Given the description of an element on the screen output the (x, y) to click on. 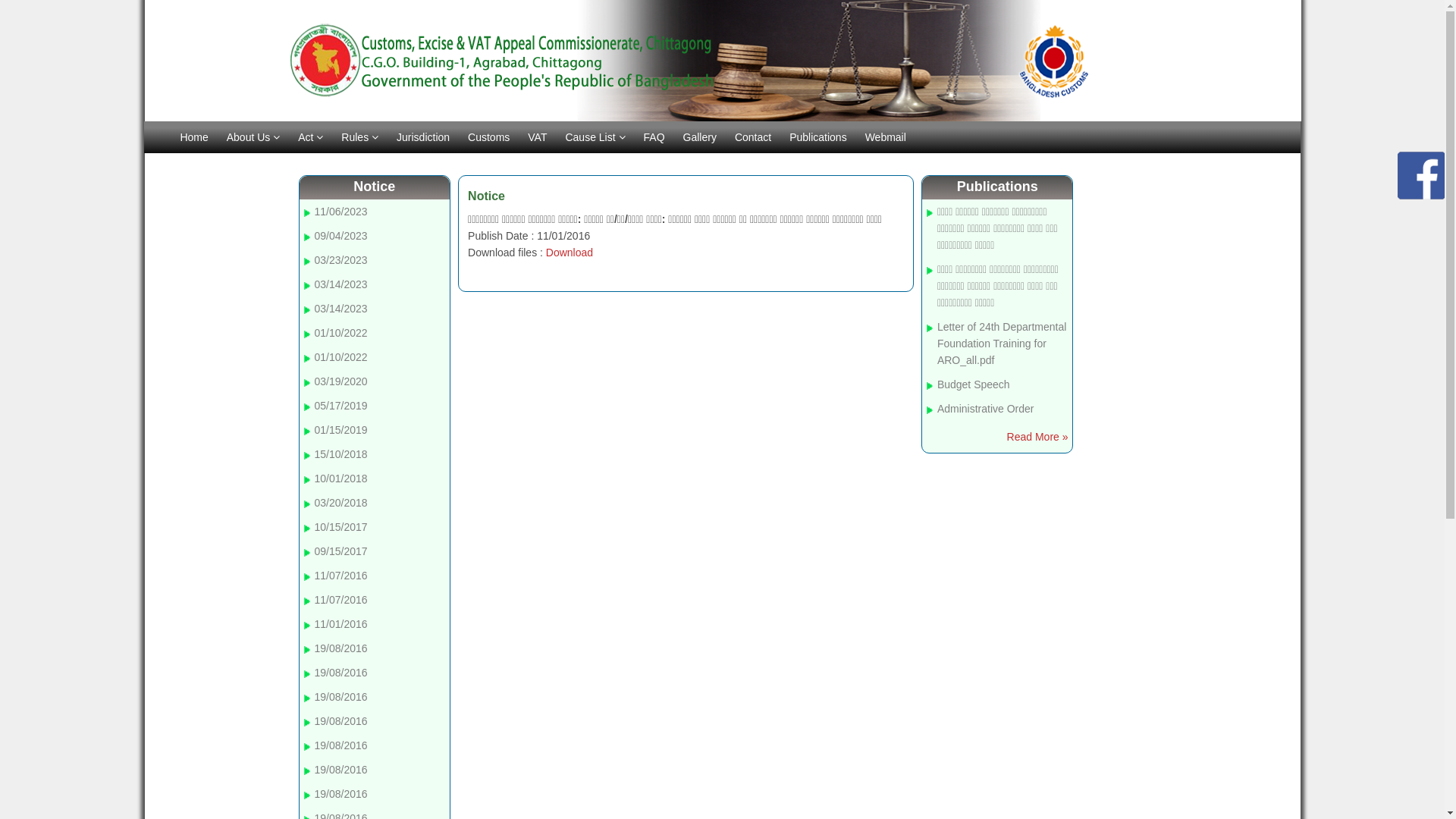
03/20/2018 Element type: text (340, 502)
11/07/2016 Element type: text (340, 599)
Webmail Element type: text (885, 137)
03/23/2023 Element type: text (340, 260)
19/08/2016 Element type: text (340, 721)
Download Element type: text (569, 252)
10/01/2018 Element type: text (340, 478)
Rules Element type: text (359, 137)
19/08/2016 Element type: text (340, 793)
Cause List Element type: text (594, 137)
FAQ Element type: text (654, 137)
09/15/2017 Element type: text (340, 551)
Publications Element type: text (818, 137)
Home Element type: text (193, 137)
19/08/2016 Element type: text (340, 648)
01/10/2022 Element type: text (340, 332)
Gallery Element type: text (699, 137)
Customs Element type: text (488, 137)
About Us Element type: text (252, 137)
05/17/2019 Element type: text (340, 405)
15/10/2018 Element type: text (340, 454)
19/08/2016 Element type: text (340, 696)
Act Element type: text (310, 137)
11/07/2016 Element type: text (340, 575)
Contact Element type: text (752, 137)
03/14/2023 Element type: text (340, 284)
01/15/2019 Element type: text (340, 429)
19/08/2016 Element type: text (340, 745)
10/15/2017 Element type: text (340, 526)
19/08/2016 Element type: text (340, 672)
03/14/2023 Element type: text (340, 308)
VAT Element type: text (536, 137)
11/01/2016 Element type: text (340, 624)
Budget Speech Element type: text (973, 384)
03/19/2020 Element type: text (340, 381)
01/10/2022 Element type: text (340, 357)
Administrative Order Element type: text (985, 408)
Jurisdiction Element type: text (422, 137)
11/06/2023 Element type: text (340, 211)
19/08/2016 Element type: text (340, 769)
09/04/2023 Element type: text (340, 235)
